Given the description of an element on the screen output the (x, y) to click on. 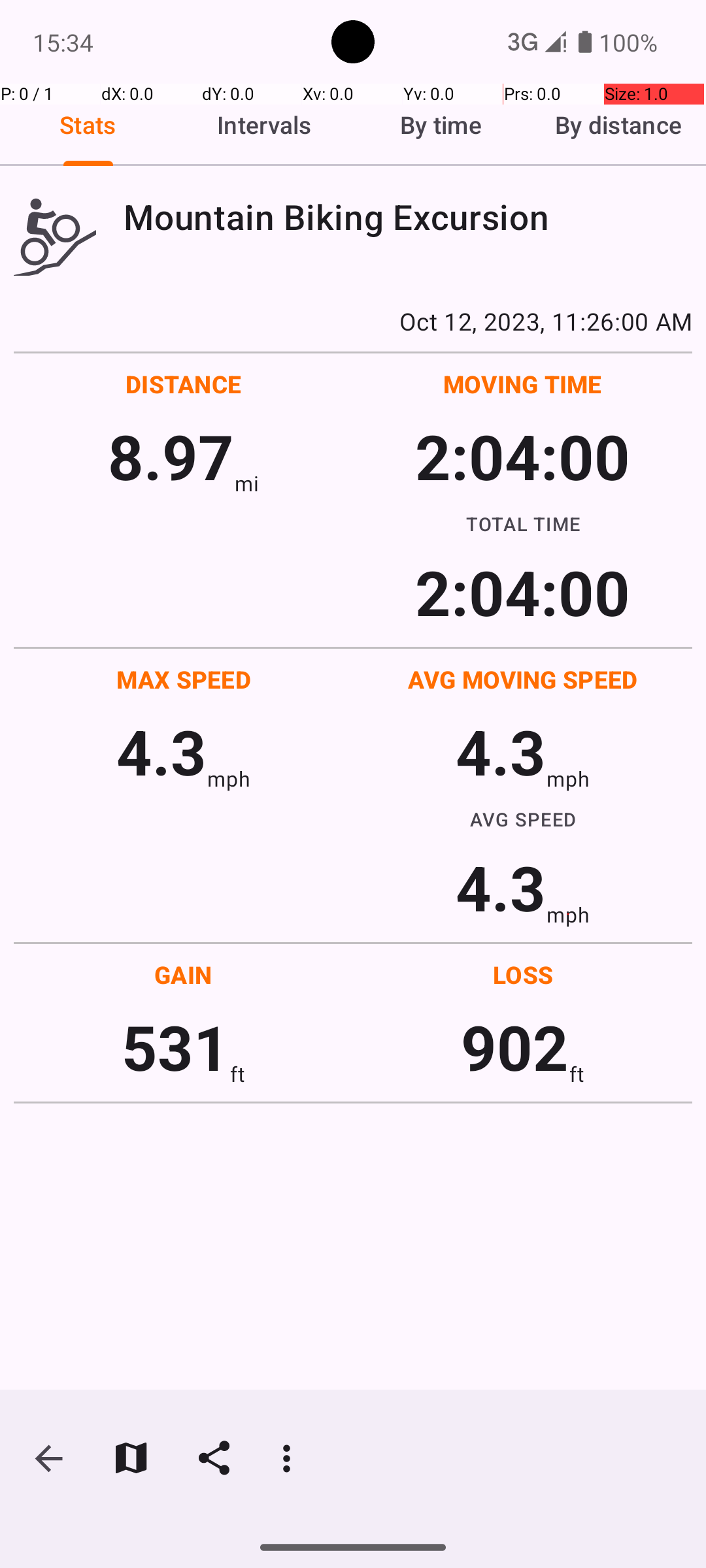
Mountain Biking Excursion Element type: android.widget.TextView (407, 216)
Oct 12, 2023, 11:26:00 AM Element type: android.widget.TextView (352, 320)
8.97 Element type: android.widget.TextView (170, 455)
2:04:00 Element type: android.widget.TextView (522, 455)
4.3 Element type: android.widget.TextView (161, 750)
531 Element type: android.widget.TextView (175, 1045)
902 Element type: android.widget.TextView (514, 1045)
